Given the description of an element on the screen output the (x, y) to click on. 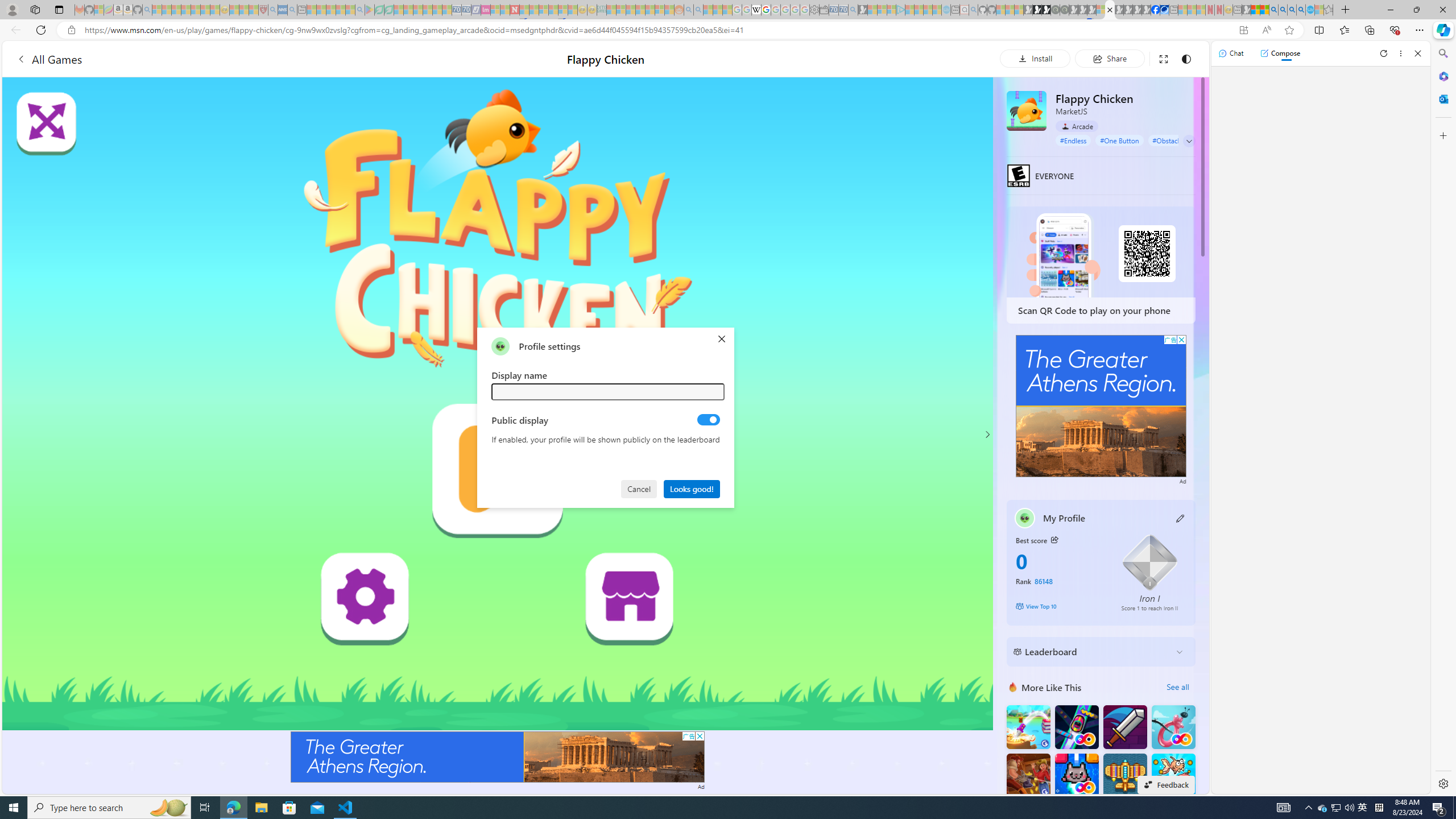
Change to dark mode (1185, 58)
